Given the description of an element on the screen output the (x, y) to click on. 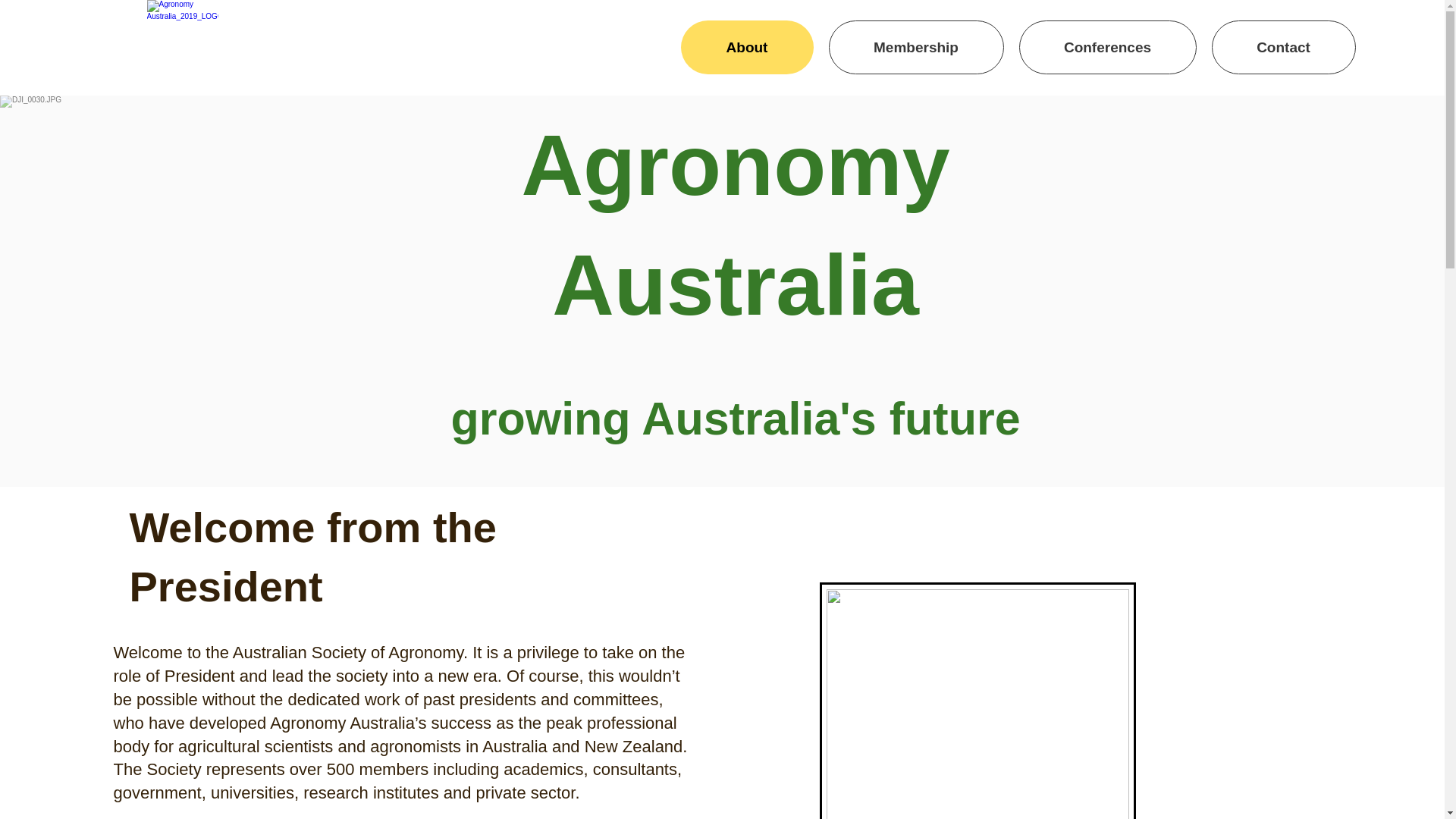
About Element type: text (746, 47)
Membership Element type: text (915, 47)
